Given the description of an element on the screen output the (x, y) to click on. 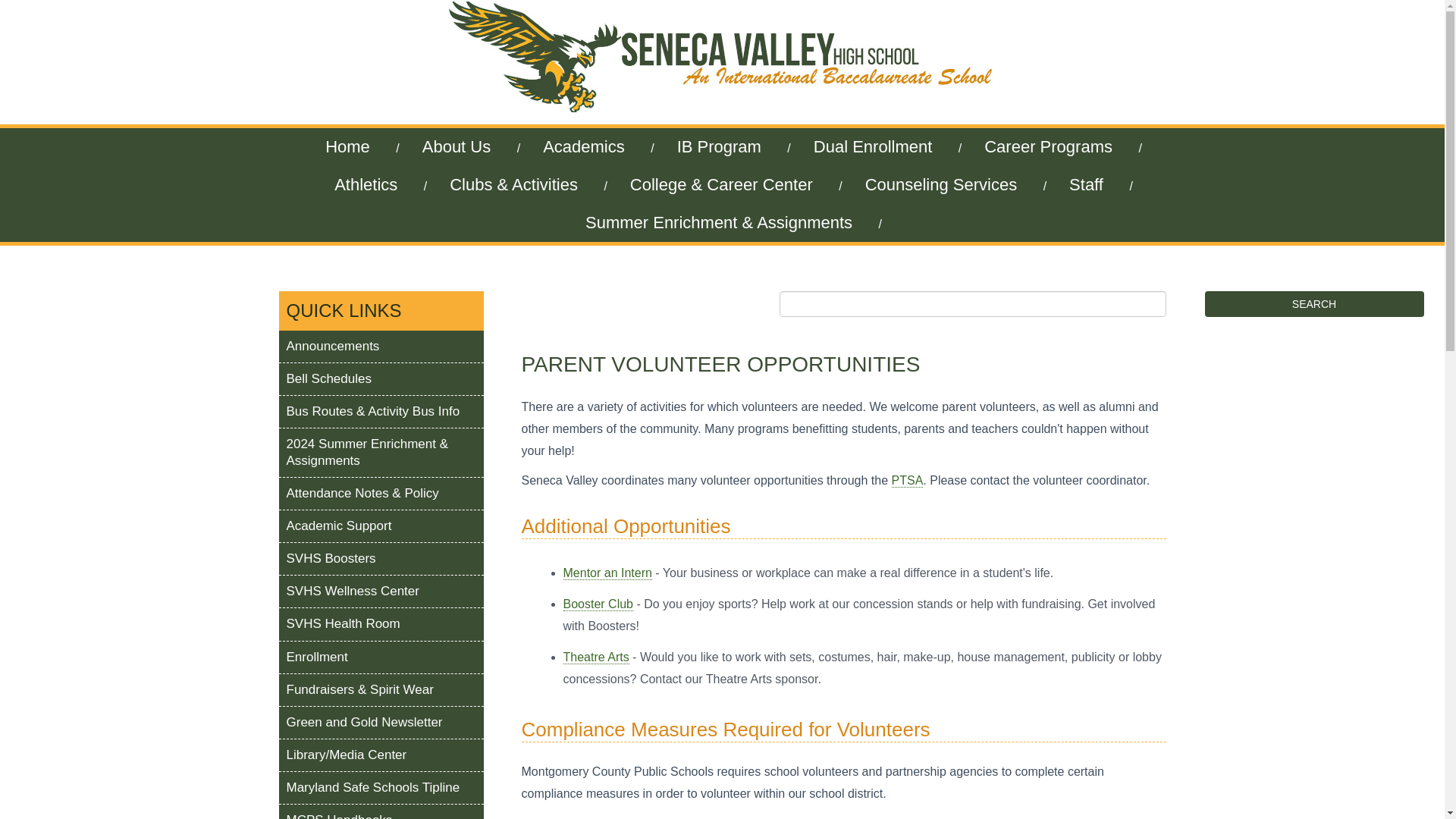
Academic Support (381, 526)
MCPS Handbooks (381, 811)
SVHS Health Room (381, 623)
Bell Schedules (381, 378)
Seneca Valley HS Wellness Center Information (381, 591)
Career Programs (1047, 146)
Staff (1085, 184)
Athletics (365, 184)
Academics (583, 146)
Counseling Services (942, 184)
Home (347, 146)
Bell Schedules (381, 378)
Mentor an Intern (606, 572)
Athletics (365, 184)
Green and Gold Newsletter (381, 722)
